Given the description of an element on the screen output the (x, y) to click on. 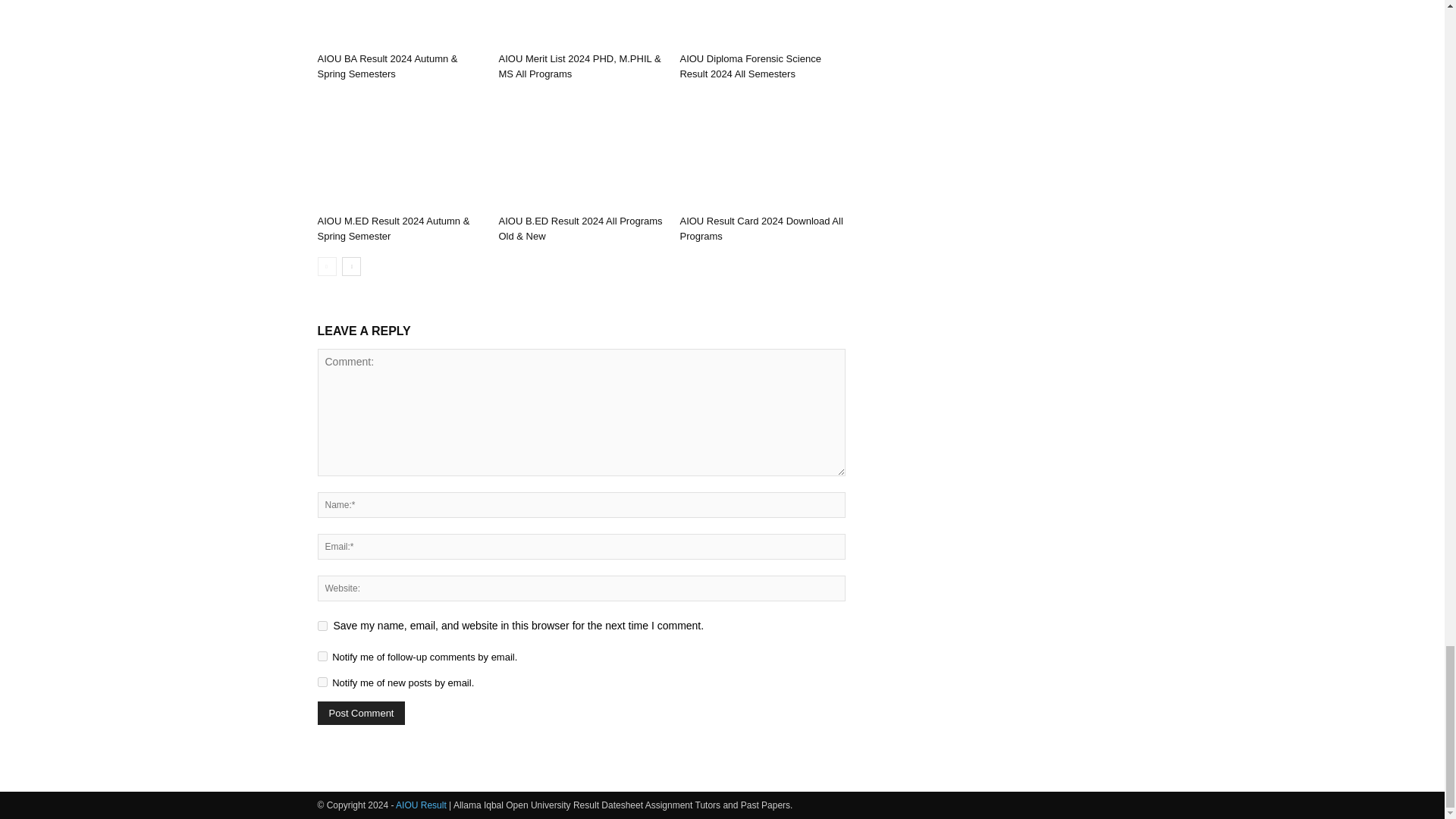
yes (321, 624)
Post Comment (360, 712)
subscribe (321, 655)
subscribe (321, 681)
